Given the description of an element on the screen output the (x, y) to click on. 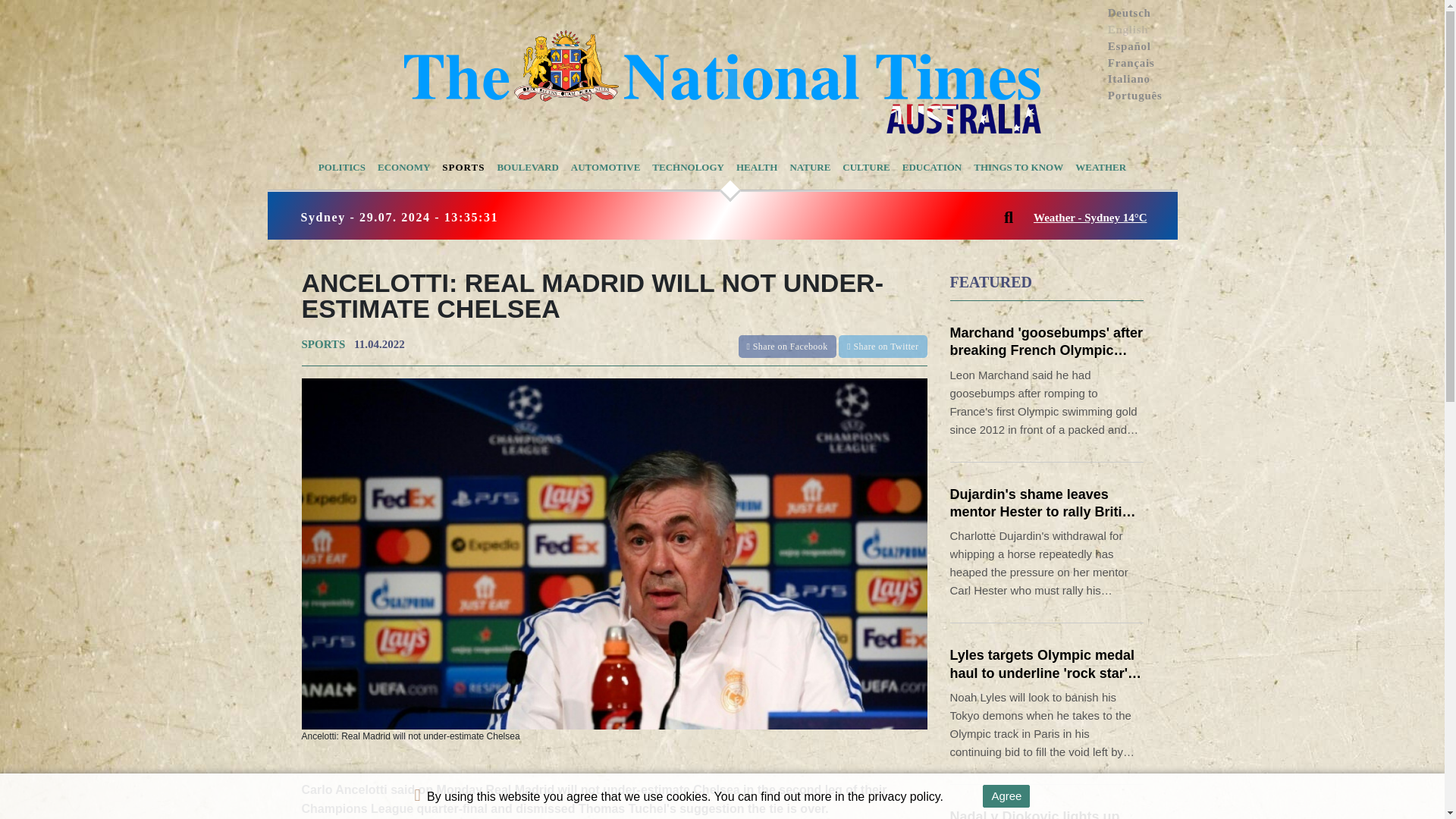
Share on Twitter (882, 345)
Share on Twitter (882, 345)
SPORTS (323, 344)
ECONOMY (403, 167)
logonew2 (722, 82)
logonew2 (722, 82)
SPORTS (462, 167)
POLITICS (342, 167)
Share on Facebook (789, 345)
BOULEVARD (527, 167)
THINGS TO KNOW (1018, 167)
HEALTH (756, 167)
NATURE (809, 167)
Agree (1005, 795)
